Given the description of an element on the screen output the (x, y) to click on. 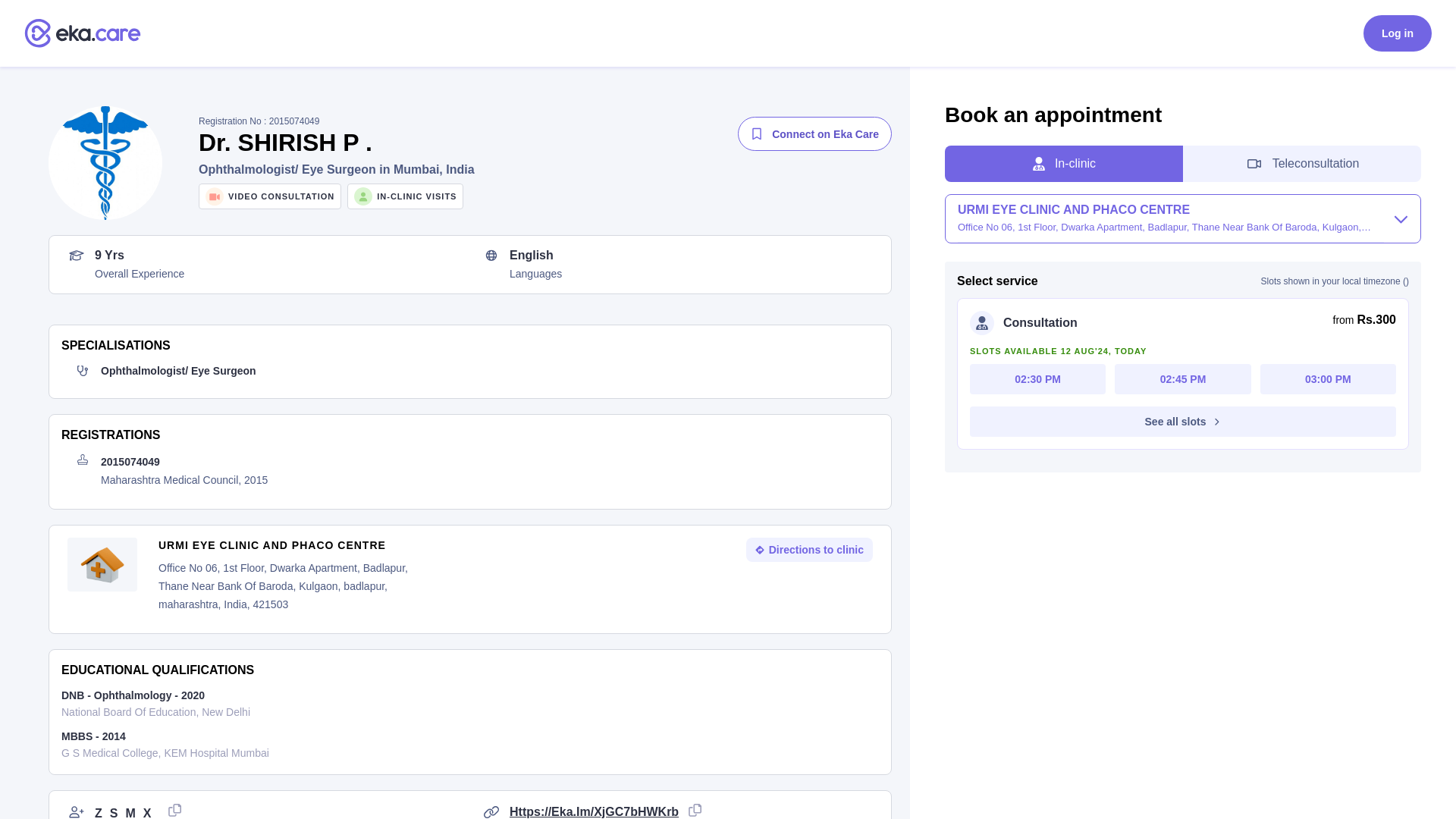
Connect on Eka Care (814, 133)
Log in (544, 196)
URMI EYE CLINIC AND PHACO CENTRE (1396, 33)
03:00 PM (295, 544)
02:45 PM (1328, 378)
Directions to clinic (1182, 378)
02:30 PM (808, 549)
See all slots (1037, 378)
